Given the description of an element on the screen output the (x, y) to click on. 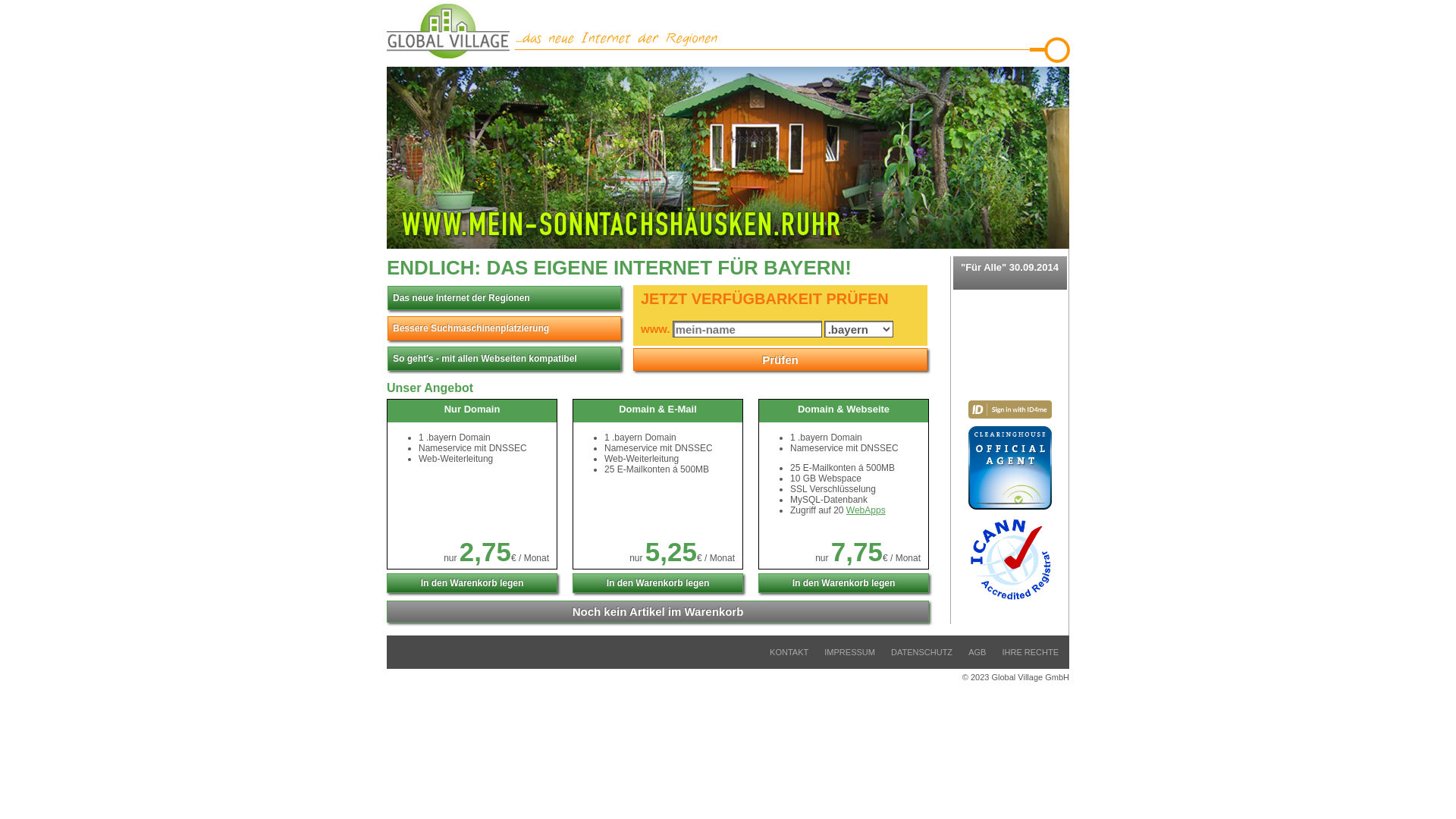
KONTAKT Element type: text (788, 651)
So geht's - mit allen Webseiten kompatibel Element type: text (504, 358)
Das neue Internet der Regionen Element type: text (504, 297)
AGB Element type: text (976, 651)
DATENSCHUTZ Element type: text (921, 651)
In den Warenkorb legen Element type: text (843, 583)
IMPRESSUM Element type: text (849, 651)
WebApps Element type: text (865, 510)
In den Warenkorb legen Element type: text (471, 583)
In den Warenkorb legen Element type: text (657, 583)
IHRE RECHTE Element type: text (1029, 651)
Noch kein Artikel im Warenkorb Element type: text (657, 611)
Bessere Suchmaschinenplatzierung Element type: text (504, 328)
